Given the description of an element on the screen output the (x, y) to click on. 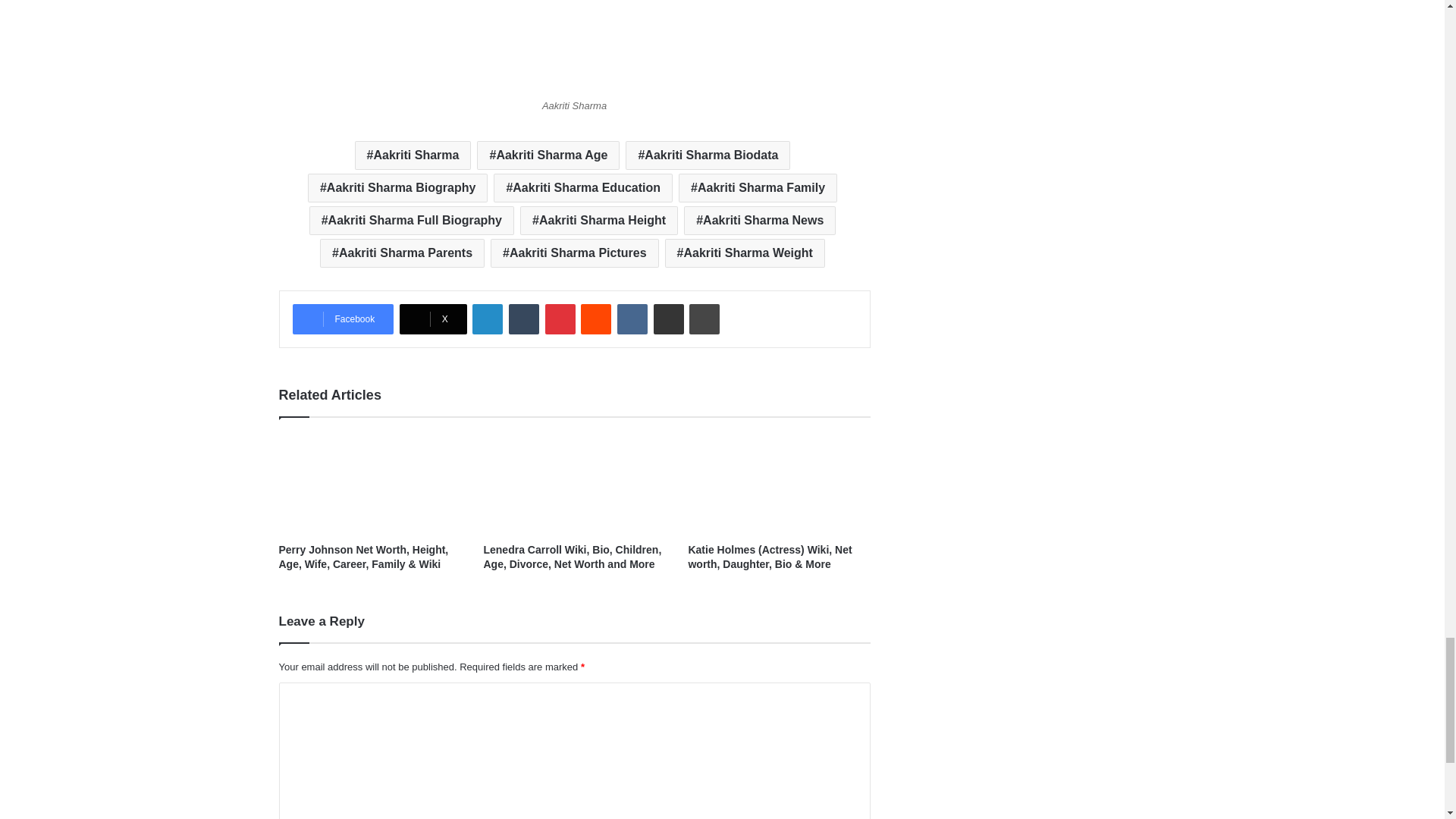
Reddit (595, 318)
X (432, 318)
Aakriti Sharma (413, 154)
Pinterest (559, 318)
VKontakte (632, 318)
Facebook (343, 318)
Share via Email (668, 318)
Aakriti Sharma Biodata (708, 154)
LinkedIn (486, 318)
Aakriti Sharma Age (548, 154)
Print (703, 318)
Tumblr (523, 318)
